Given the description of an element on the screen output the (x, y) to click on. 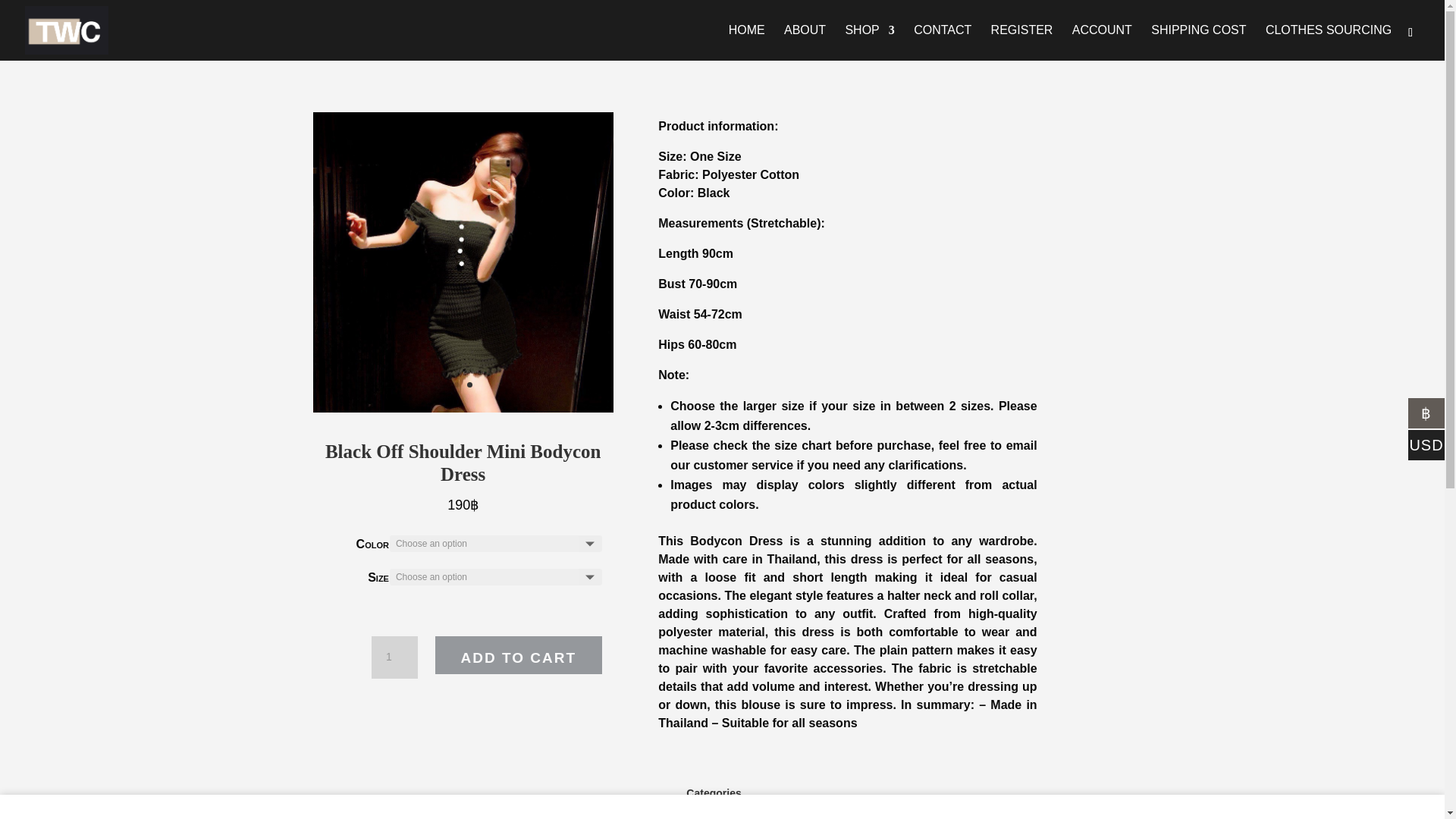
ABOUT (804, 42)
SHOP (868, 42)
1 (393, 657)
ADD TO CART (518, 655)
REGISTER (1021, 42)
CLOTHES SOURCING (1328, 42)
ACCOUNT (1101, 42)
CONTACT (942, 42)
HOME (747, 42)
SHIPPING COST (1198, 42)
